Given the description of an element on the screen output the (x, y) to click on. 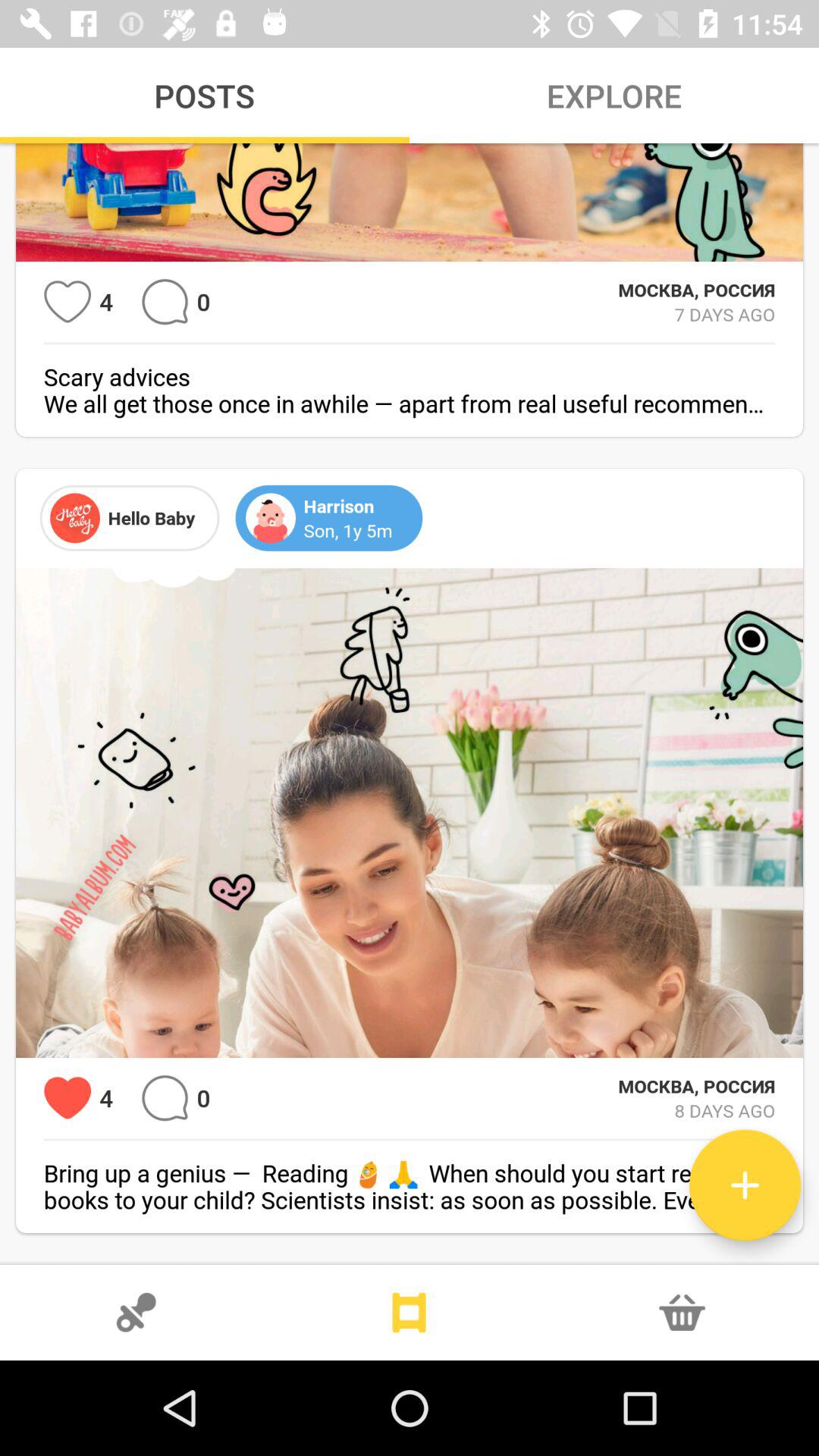
see more videos (409, 1312)
